Given the description of an element on the screen output the (x, y) to click on. 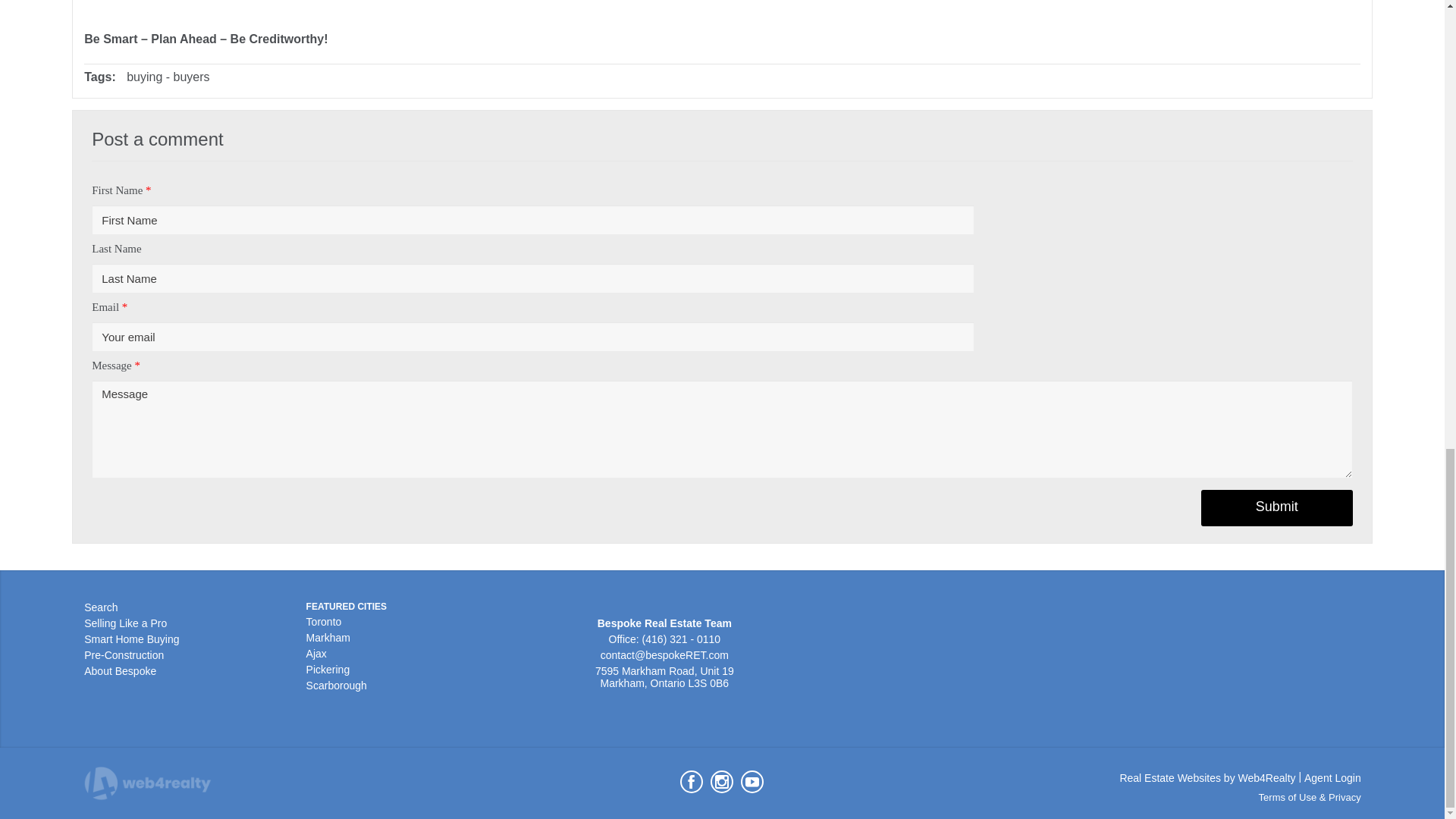
Markham (327, 637)
Toronto (323, 621)
buyers (191, 76)
Scarborough (335, 685)
Ajax (315, 653)
Pre-Construction (123, 654)
Search (100, 607)
Selling Like a Pro (125, 623)
Pickering (327, 669)
About Bespoke (119, 671)
